Given the description of an element on the screen output the (x, y) to click on. 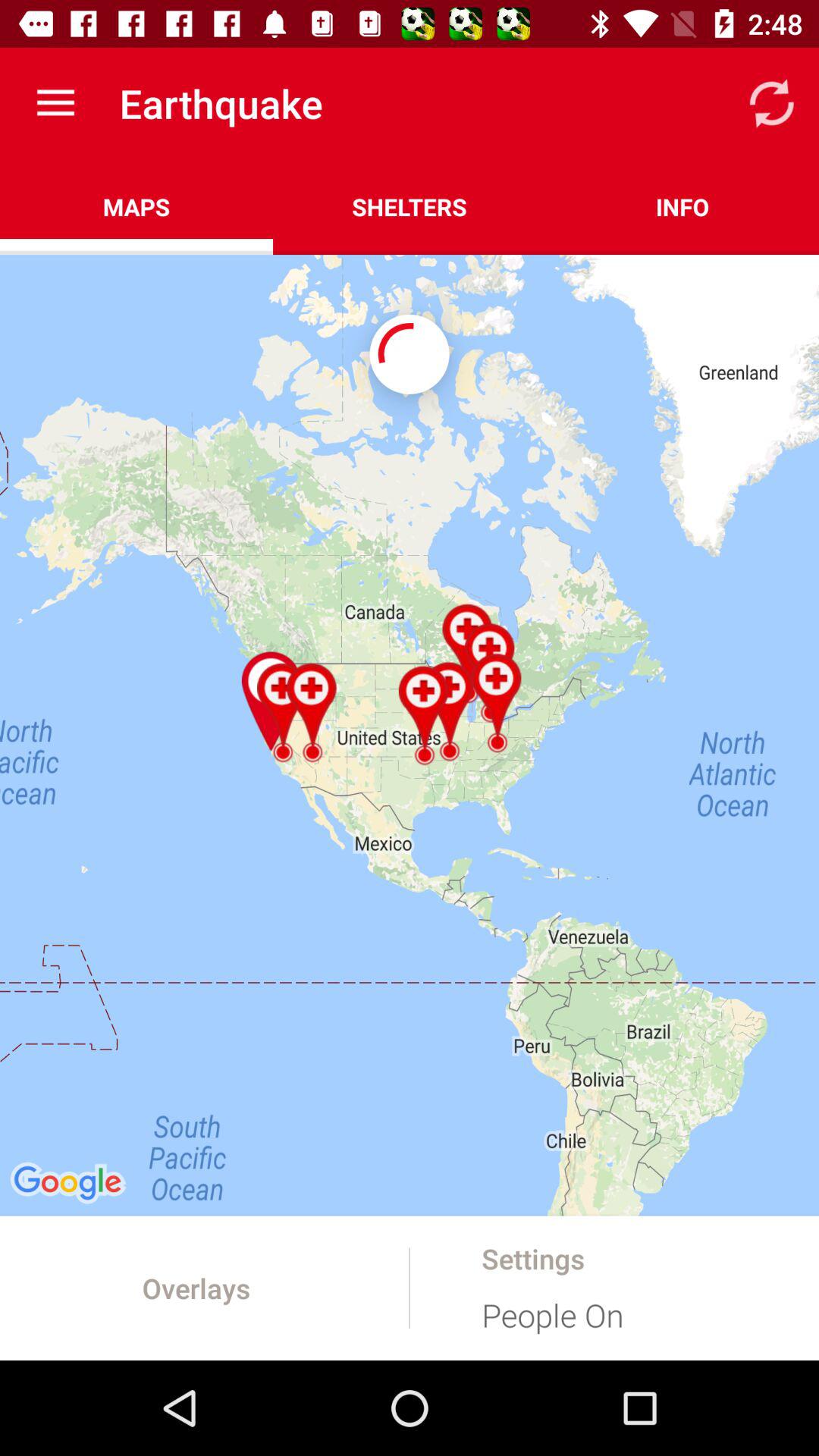
turn on icon next to shelters item (682, 206)
